Given the description of an element on the screen output the (x, y) to click on. 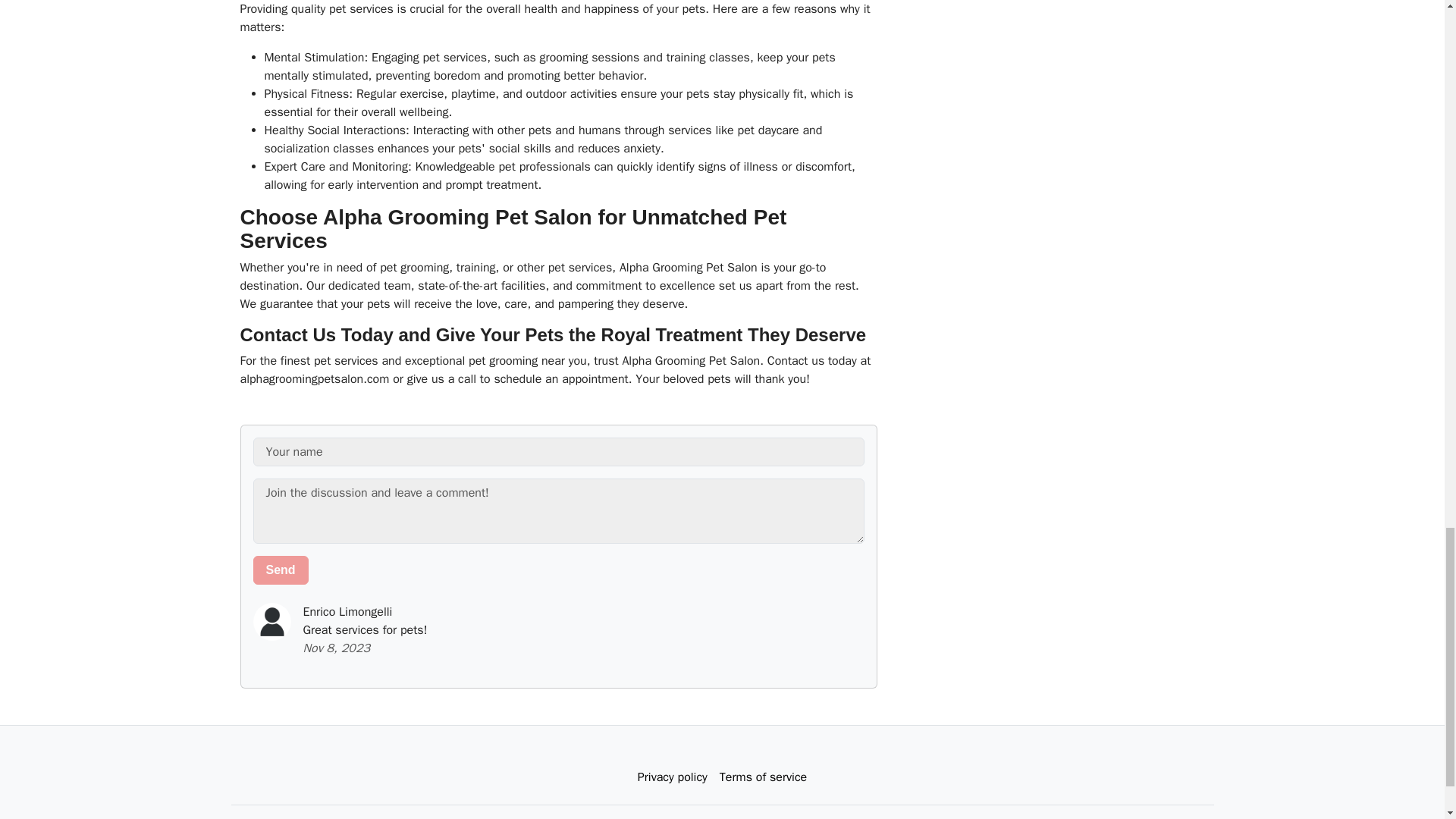
Send (280, 570)
Privacy policy (672, 777)
Terms of service (762, 777)
Send (280, 570)
